Given the description of an element on the screen output the (x, y) to click on. 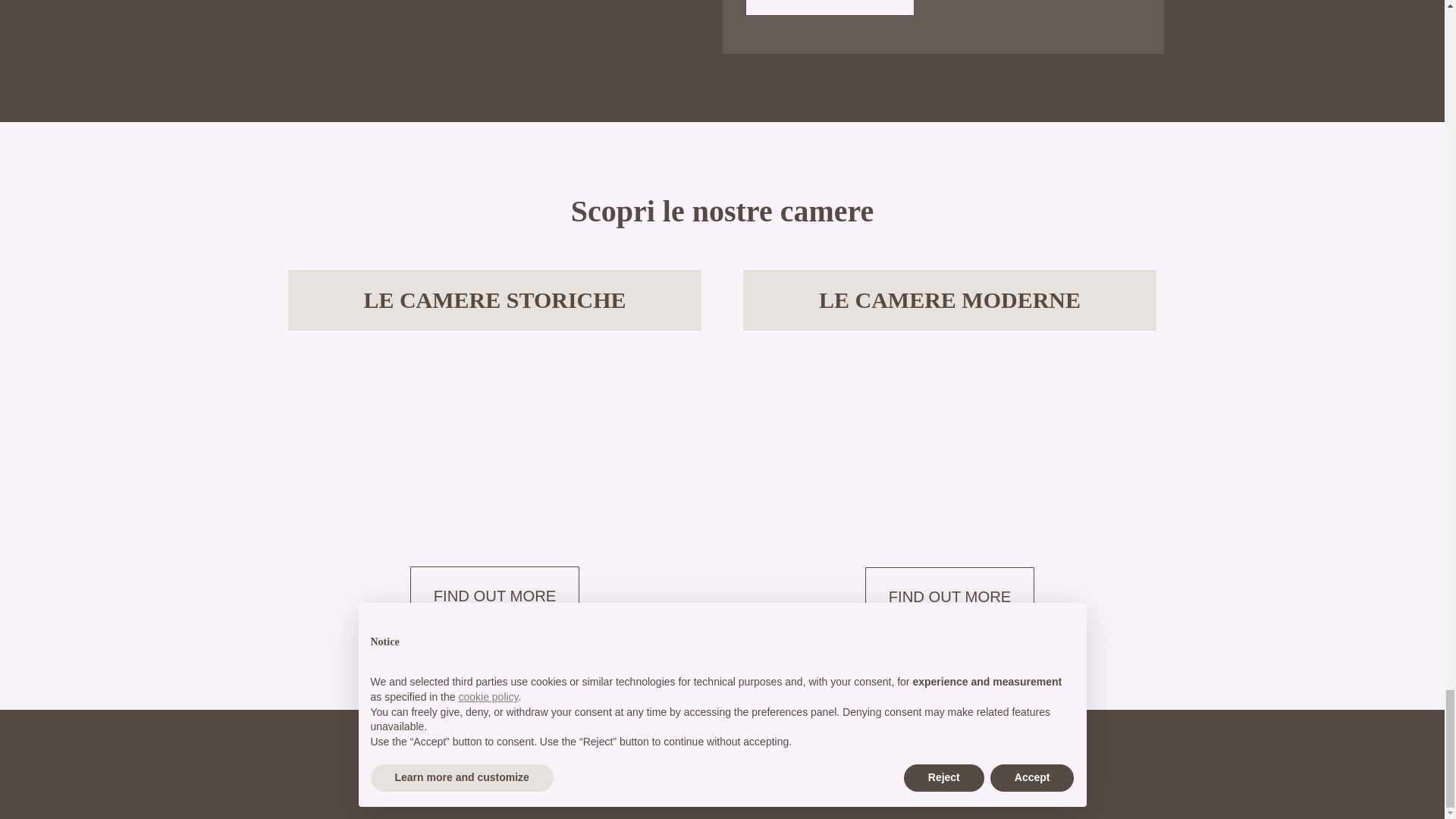
Privacy Policy (687, 756)
Privacy Policy (687, 756)
FIND OUT MORE (829, 7)
Cookie Policy (757, 756)
Cookie Policy (757, 756)
Congegni (745, 792)
Congegni website (745, 792)
FIND OUT MORE (949, 596)
FIND OUT MORE (494, 595)
